Given the description of an element on the screen output the (x, y) to click on. 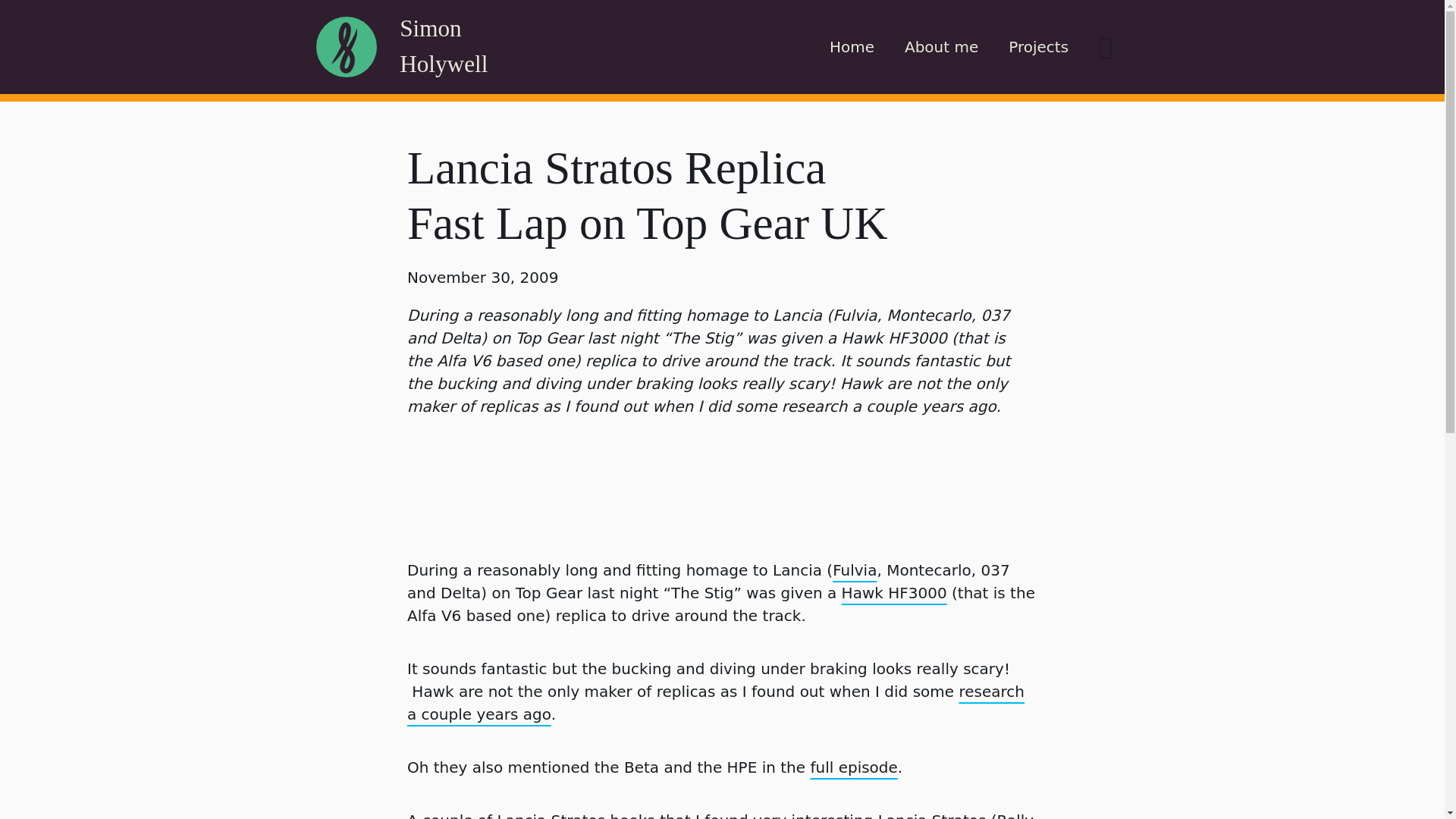
Home (851, 47)
Simon Holywell (442, 45)
Hawk HF3000 (894, 592)
About me (940, 47)
Lancia Stratos Replica Fast Lap on Top Gear UK (646, 194)
Fulvia (854, 570)
Projects (1037, 47)
research a couple years ago (716, 702)
full episode (854, 767)
Toggle between the light and dark themes of this site (1105, 47)
